Given the description of an element on the screen output the (x, y) to click on. 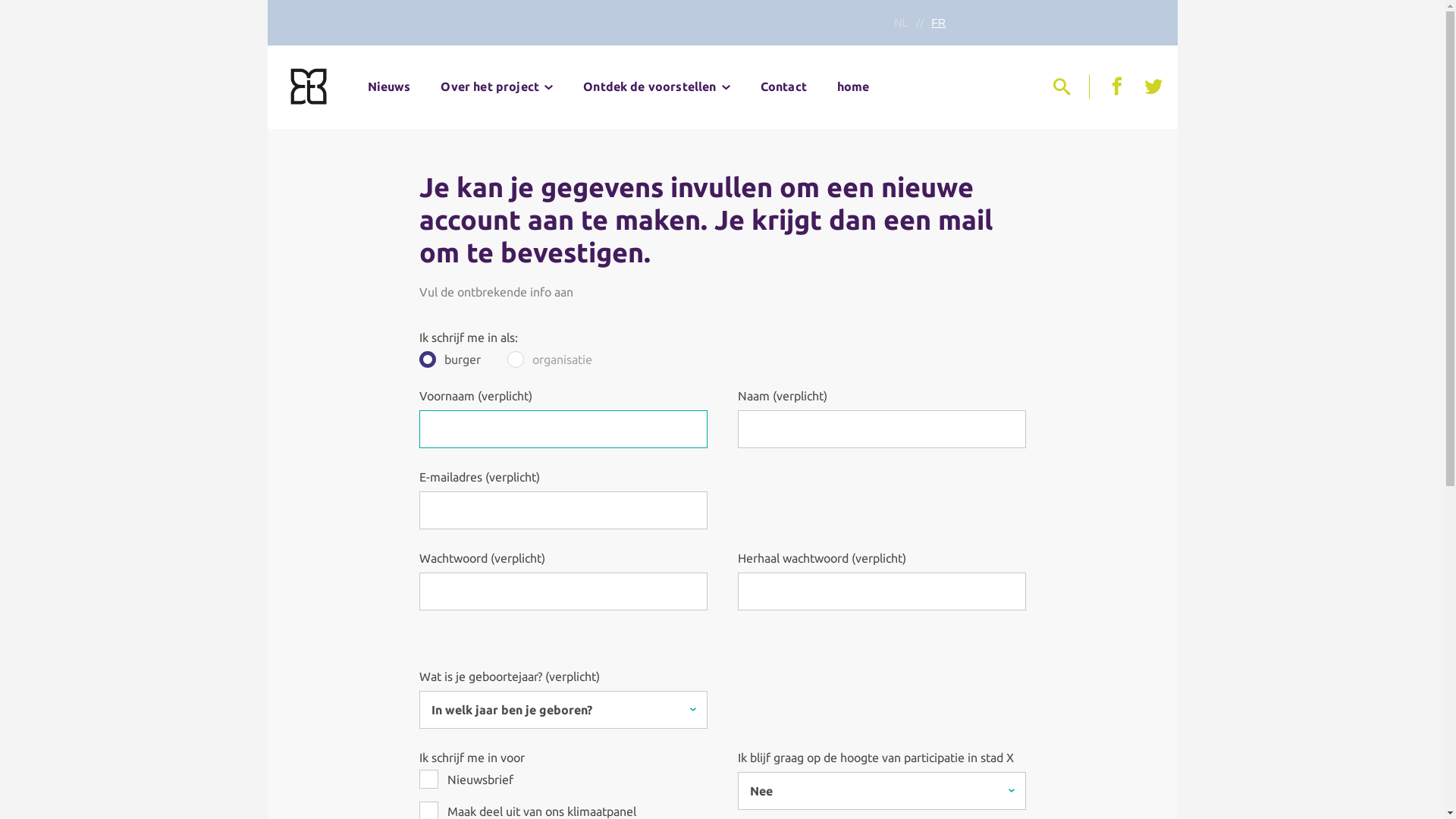
Ontdek de voorstellen Element type: text (656, 86)
Contact Element type: text (783, 86)
NL Element type: text (900, 22)
Over het project Element type: text (496, 86)
home Element type: text (853, 86)
FR Element type: text (938, 22)
Nieuws Element type: text (388, 86)
